Given the description of an element on the screen output the (x, y) to click on. 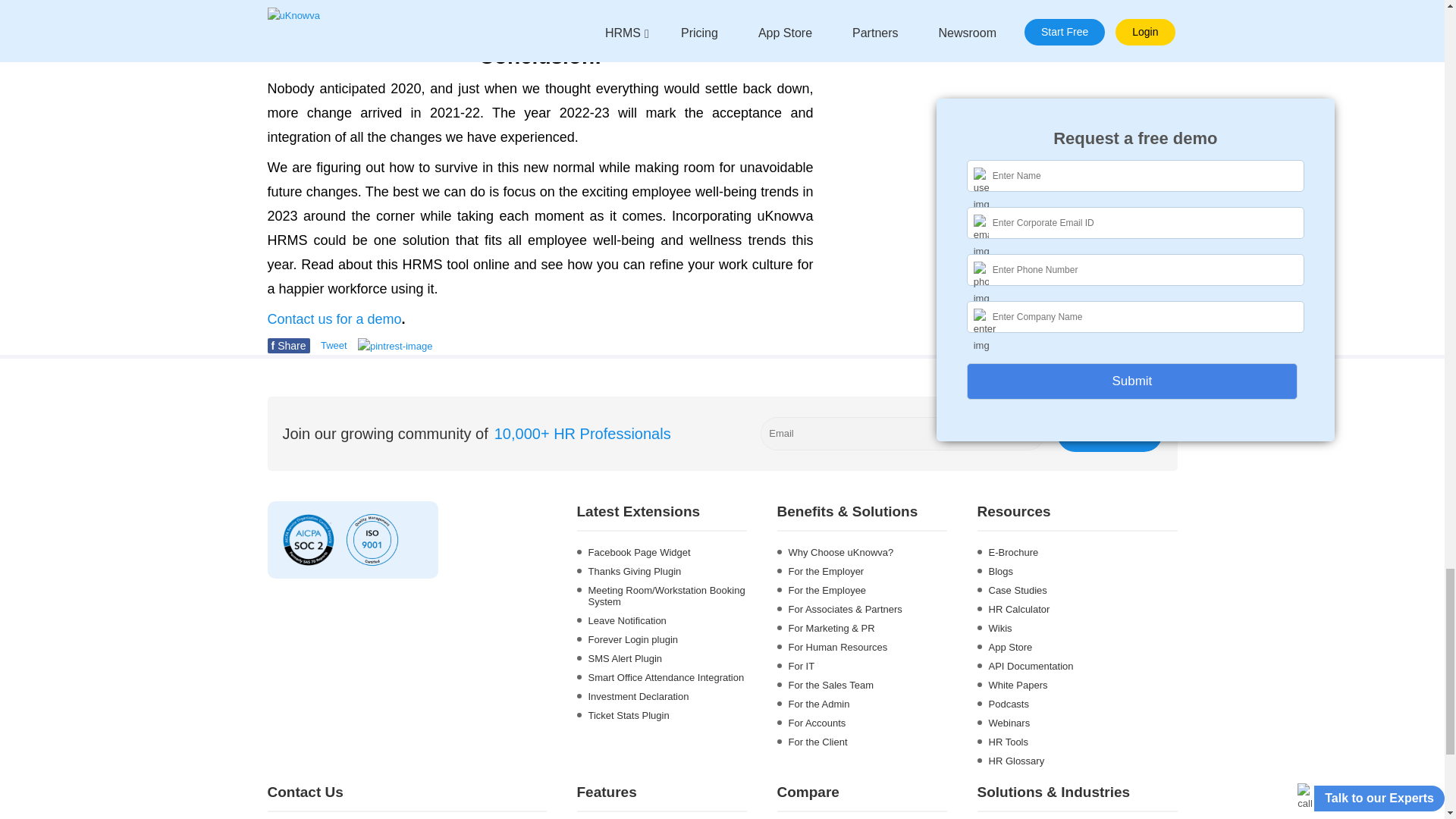
Tweet (333, 345)
fShare (1109, 433)
improving workplace harmony (287, 345)
